Given the description of an element on the screen output the (x, y) to click on. 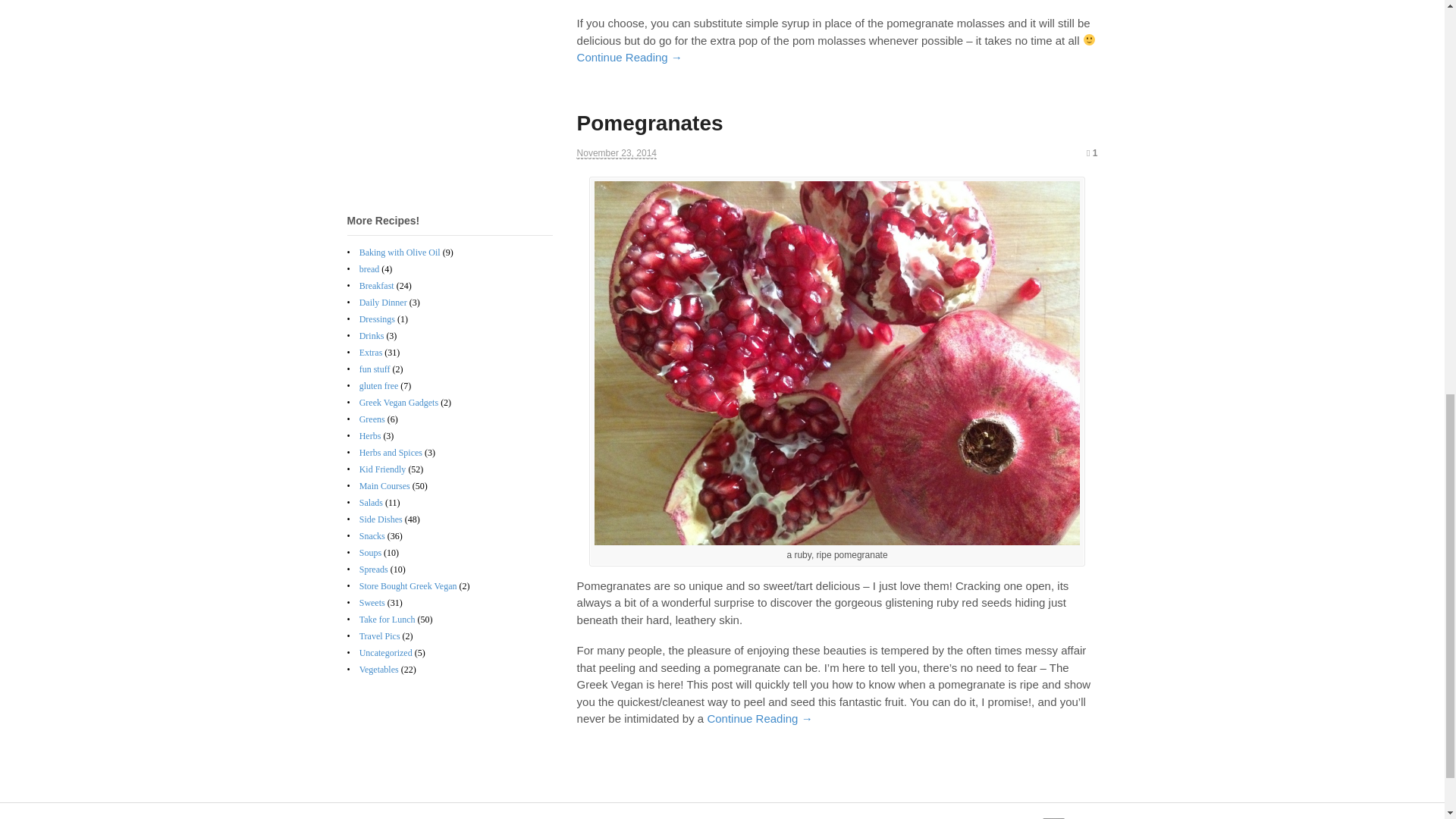
Baking with Olive Oil (400, 252)
Herbs and Spices (390, 452)
fun stuff (374, 368)
Greek Vegan Gadgets (398, 402)
1 (1091, 153)
Herbs (370, 435)
Kid Friendly (382, 469)
Extras (370, 352)
Drinks (371, 335)
Breakfast (376, 285)
Salads (370, 502)
2014-11-23T00:42:30-0500 (616, 153)
Greens (372, 419)
Dressings (376, 318)
Pomegranates (649, 123)
